Given the description of an element on the screen output the (x, y) to click on. 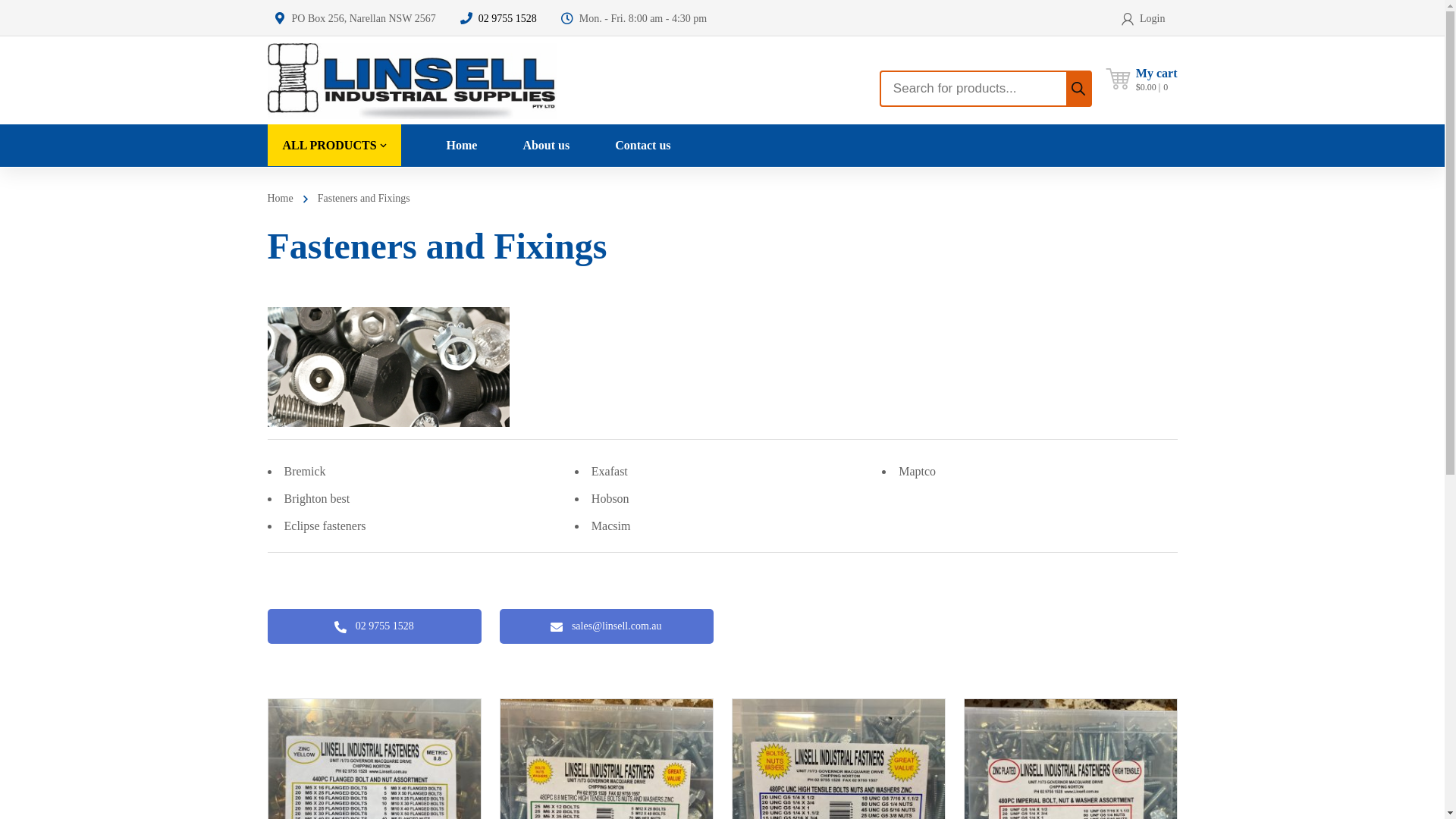
Linsell Industrial Supplies Element type: hover (410, 79)
Home Element type: text (279, 197)
About us Element type: text (545, 145)
02 9755 1528 Element type: text (373, 625)
Home Element type: text (461, 145)
ALL PRODUCTS Element type: text (333, 145)
My cart
$0.00 0 Element type: text (1156, 80)
Contact us Element type: text (642, 145)
02 9755 1528 Element type: text (507, 18)
sales@linsell.com.au Element type: text (605, 625)
